Given the description of an element on the screen output the (x, y) to click on. 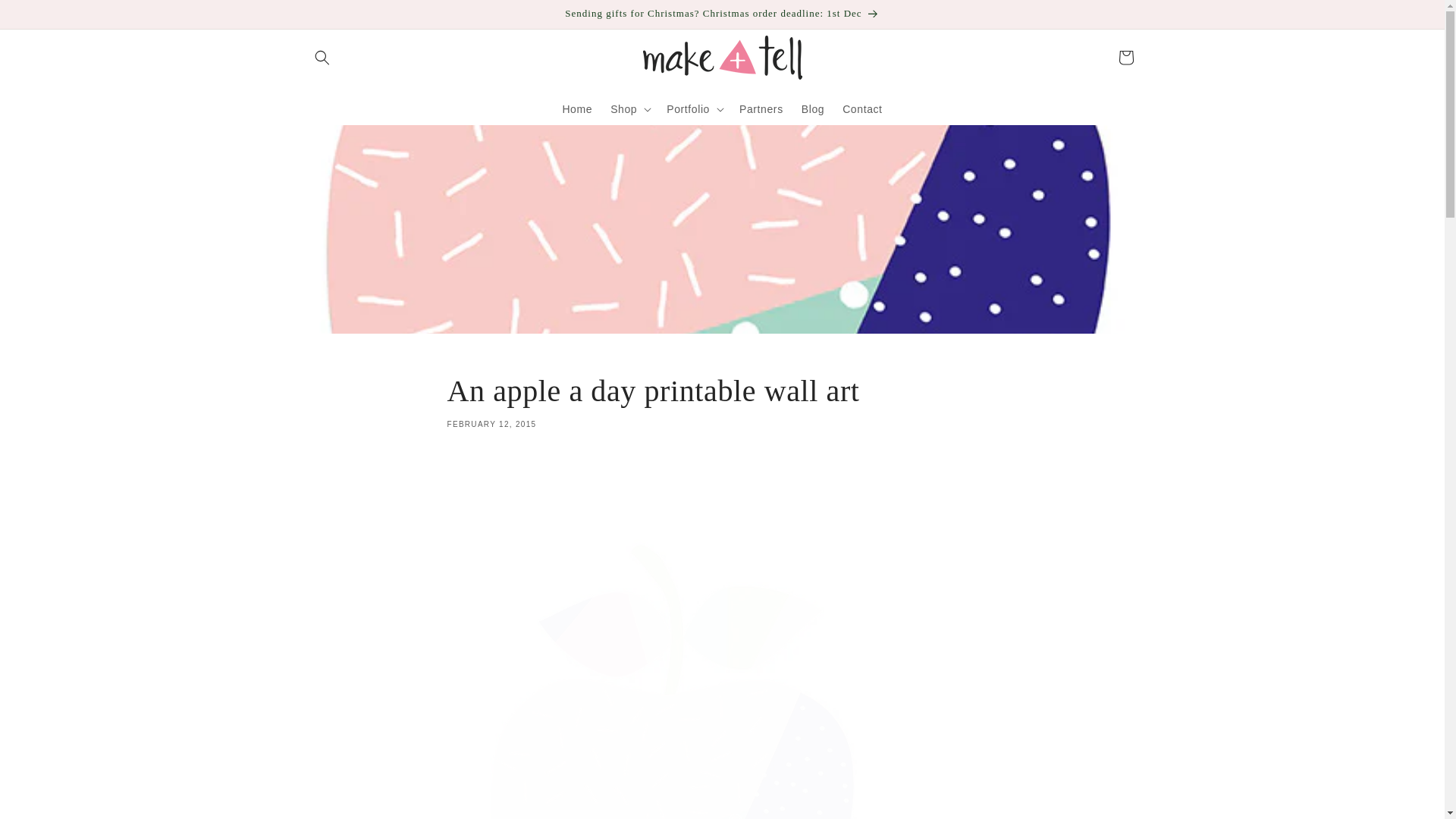
Cart (1124, 57)
Skip to content (45, 17)
Contact (861, 108)
Blog (812, 108)
Home (577, 108)
Partners (721, 400)
